Given the description of an element on the screen output the (x, y) to click on. 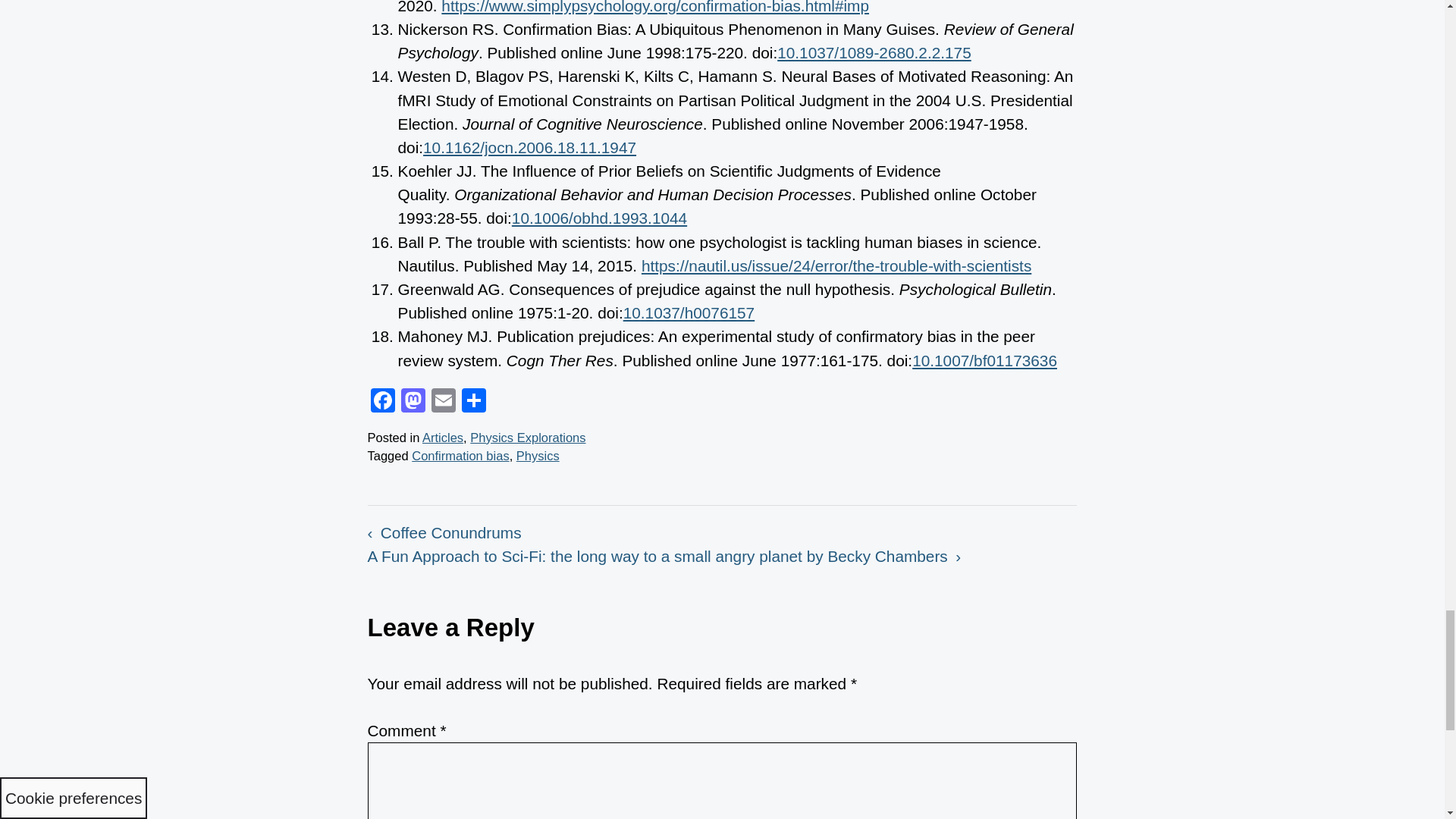
Email (443, 402)
Facebook (382, 402)
Mastodon (412, 402)
